Given the description of an element on the screen output the (x, y) to click on. 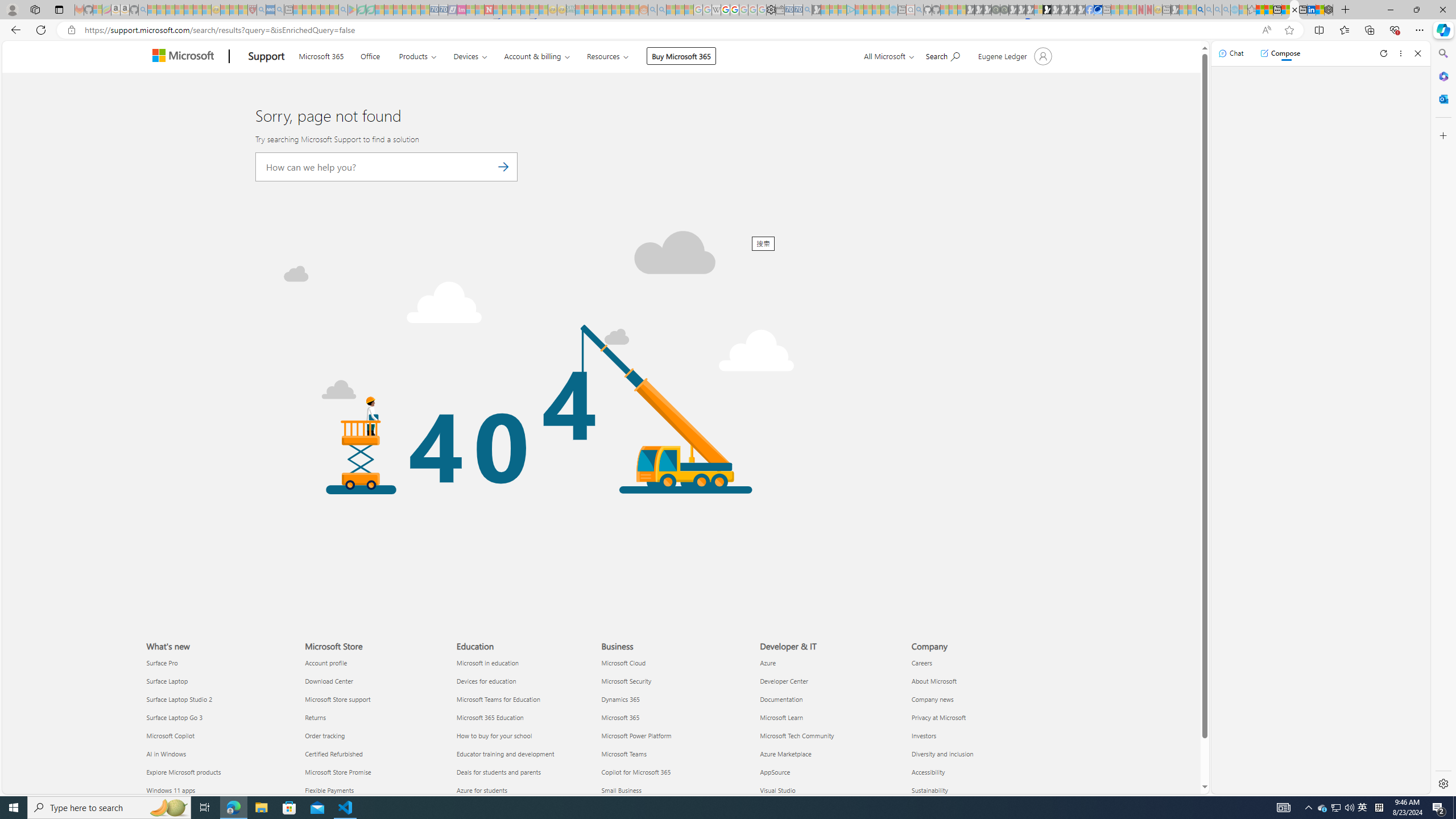
Microsoft 365 Education (525, 717)
Microsoft Teams Business (623, 753)
Microsoft Start Gaming - Sleeping (815, 9)
AppSource Developer & IT (775, 771)
How to buy for your school (525, 735)
